Given the description of an element on the screen output the (x, y) to click on. 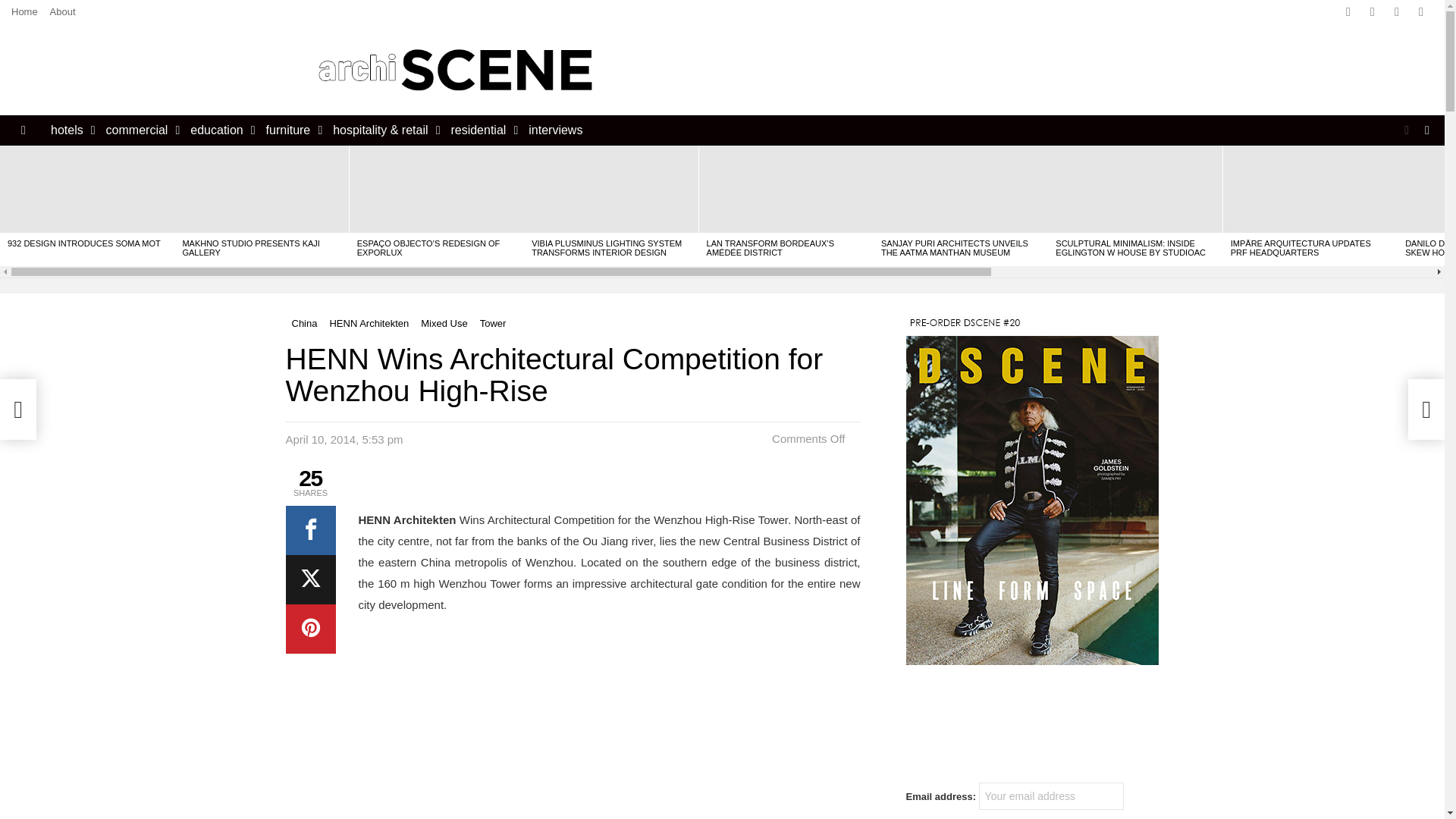
furniture (291, 129)
education (218, 129)
Home (24, 12)
Menu (22, 130)
commercial (139, 129)
About (62, 12)
hotels (69, 129)
Facebook (1347, 11)
instagram (1396, 11)
Twitter (1371, 11)
